Given the description of an element on the screen output the (x, y) to click on. 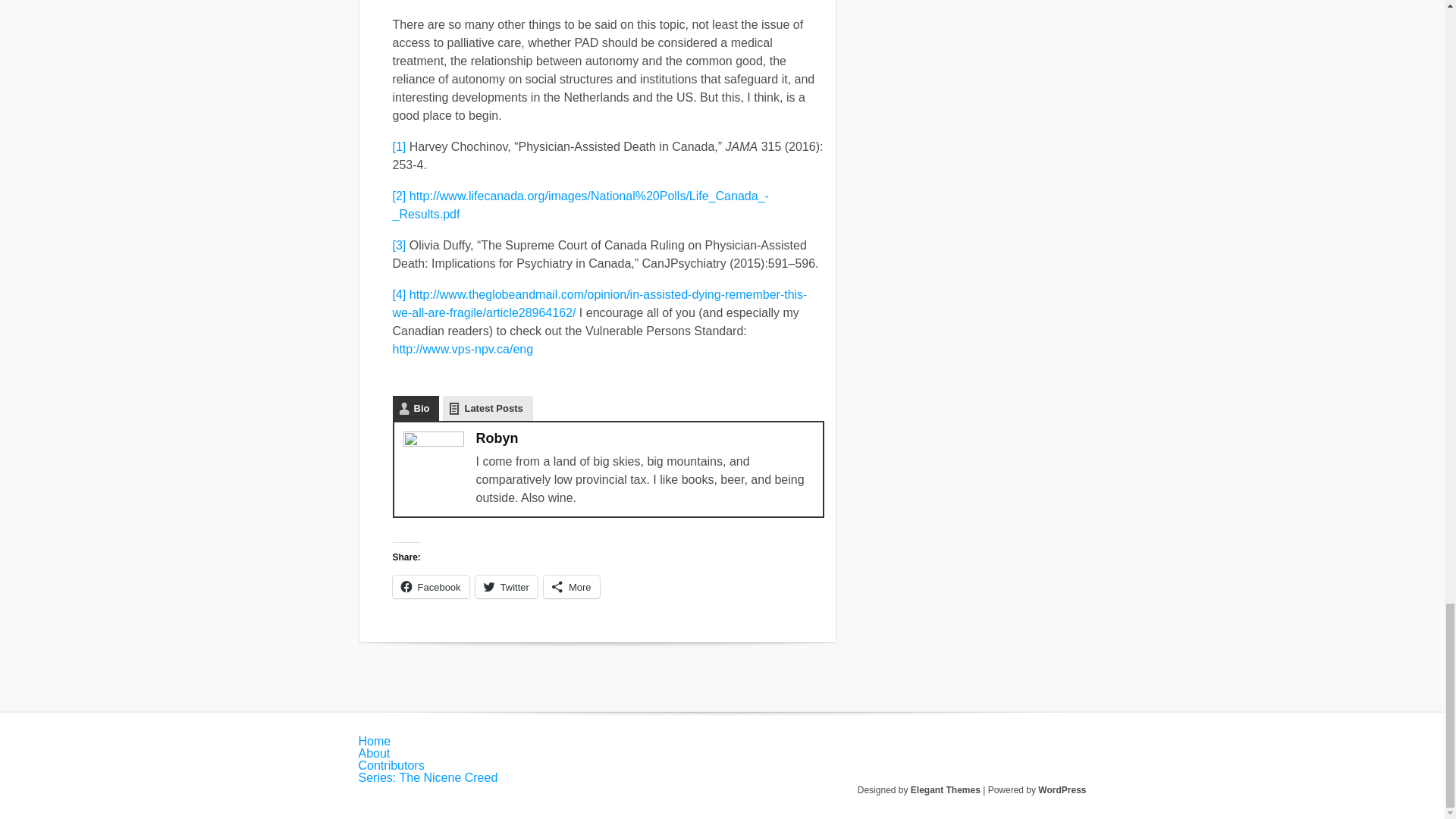
Bio (416, 407)
Click to share on Facebook (430, 586)
Click to share on Twitter (506, 586)
Premium WordPress Themes (945, 789)
